Given the description of an element on the screen output the (x, y) to click on. 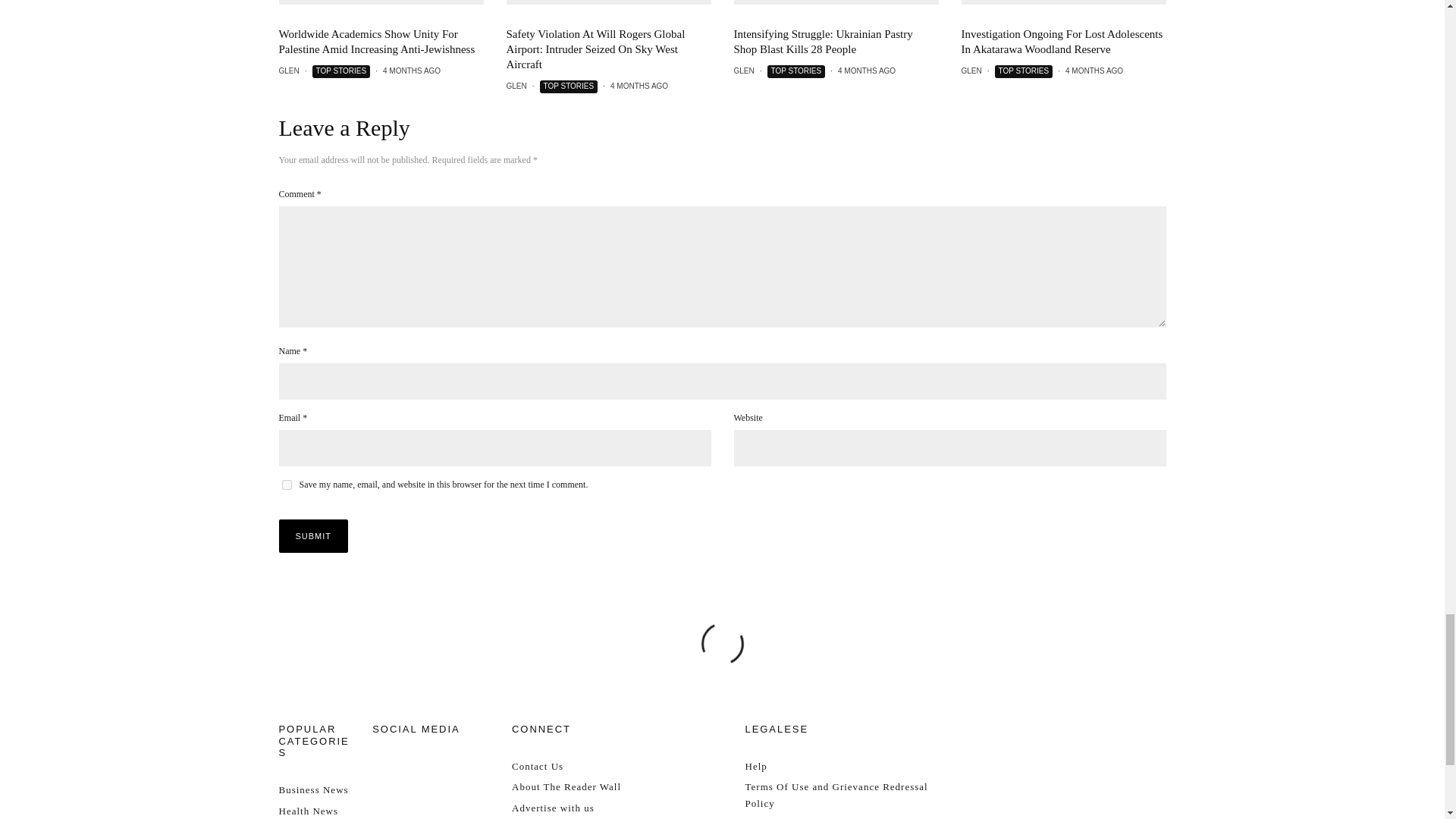
yes (287, 484)
Submit (314, 535)
